Given the description of an element on the screen output the (x, y) to click on. 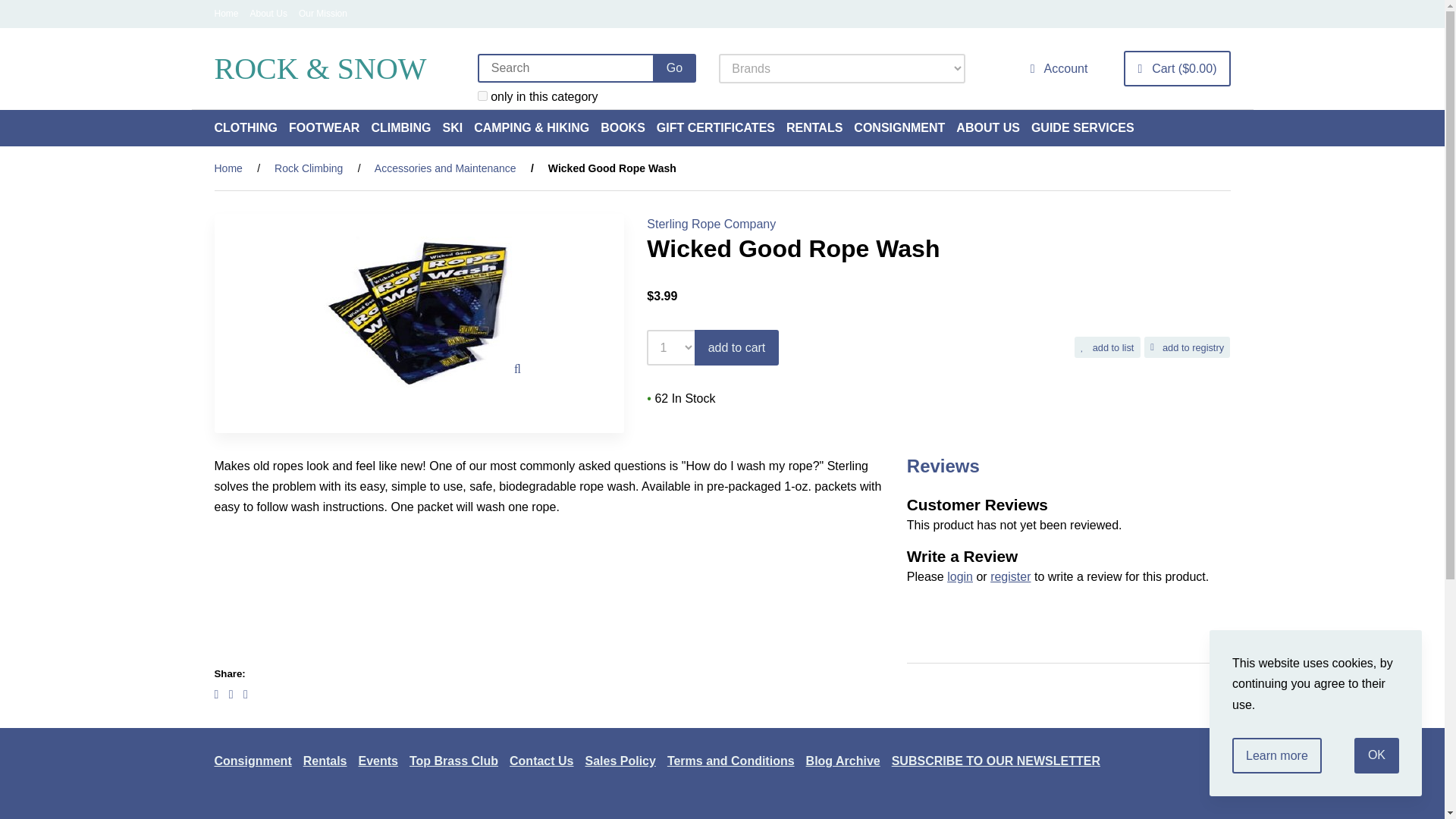
Wicked Good Rope Wash (418, 311)
  Account (1059, 68)
OK (1376, 755)
71 (482, 95)
About Us (268, 13)
Home (226, 13)
Our Mission (322, 13)
Go (673, 68)
